Given the description of an element on the screen output the (x, y) to click on. 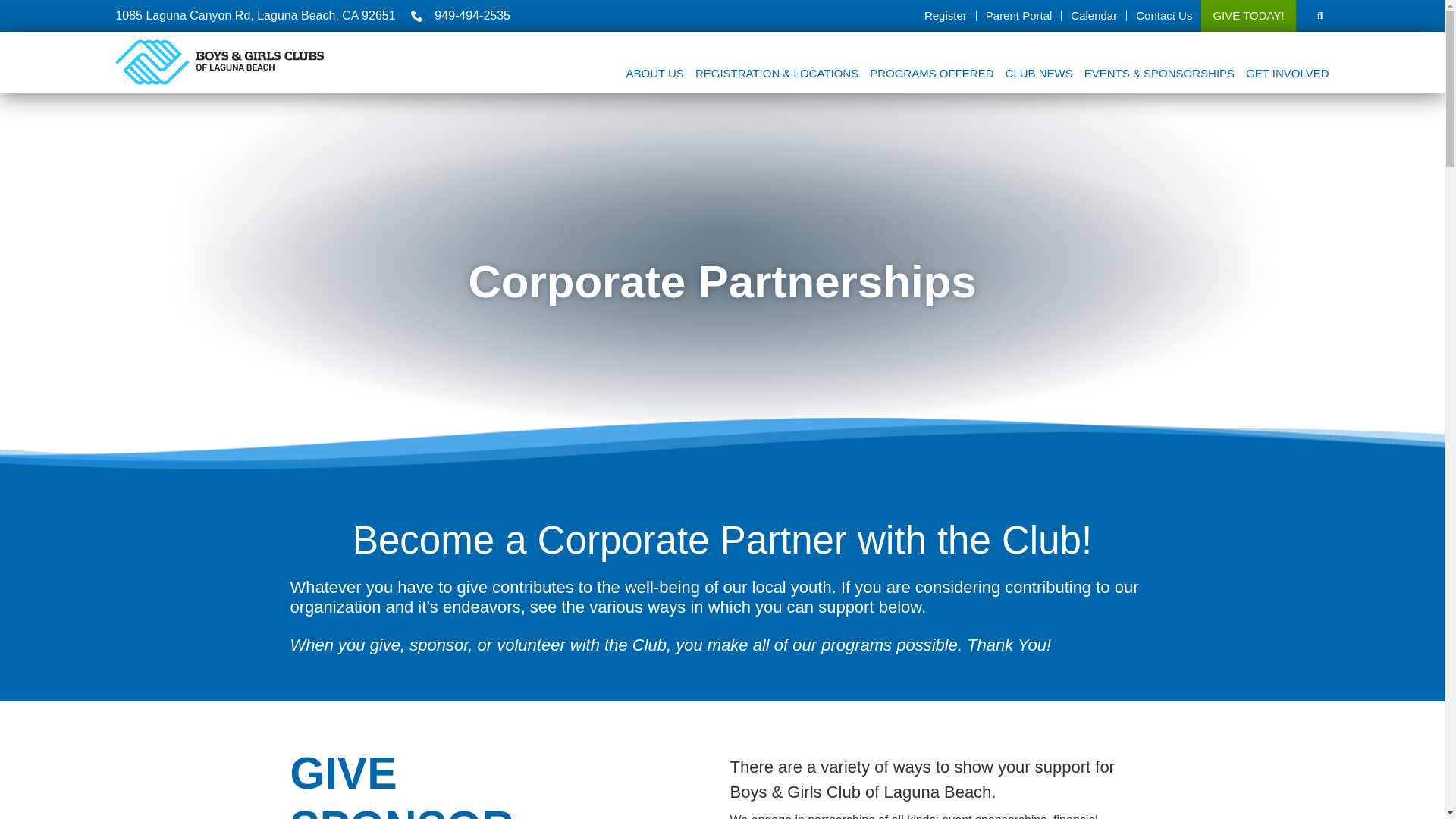
949-494-2535 (460, 15)
ABOUT US (654, 73)
Contact Us (1163, 15)
Register (945, 15)
Parent Portal (1018, 15)
GIVE TODAY! (1248, 15)
Calendar (1093, 15)
